Given the description of an element on the screen output the (x, y) to click on. 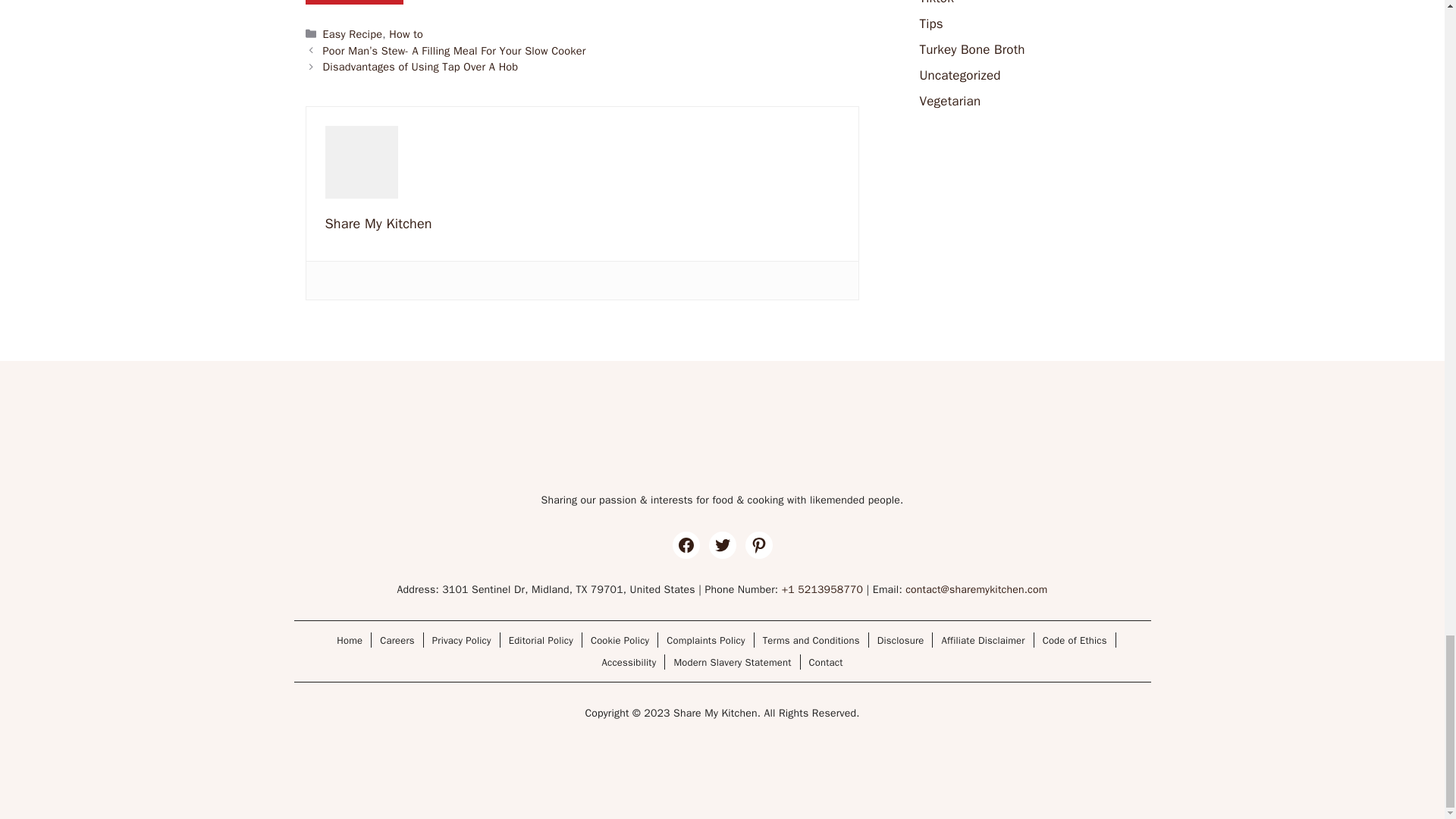
How to (405, 33)
Easy Recipe (352, 33)
Pinterest (353, 2)
Save to Pinterest (353, 2)
